Given the description of an element on the screen output the (x, y) to click on. 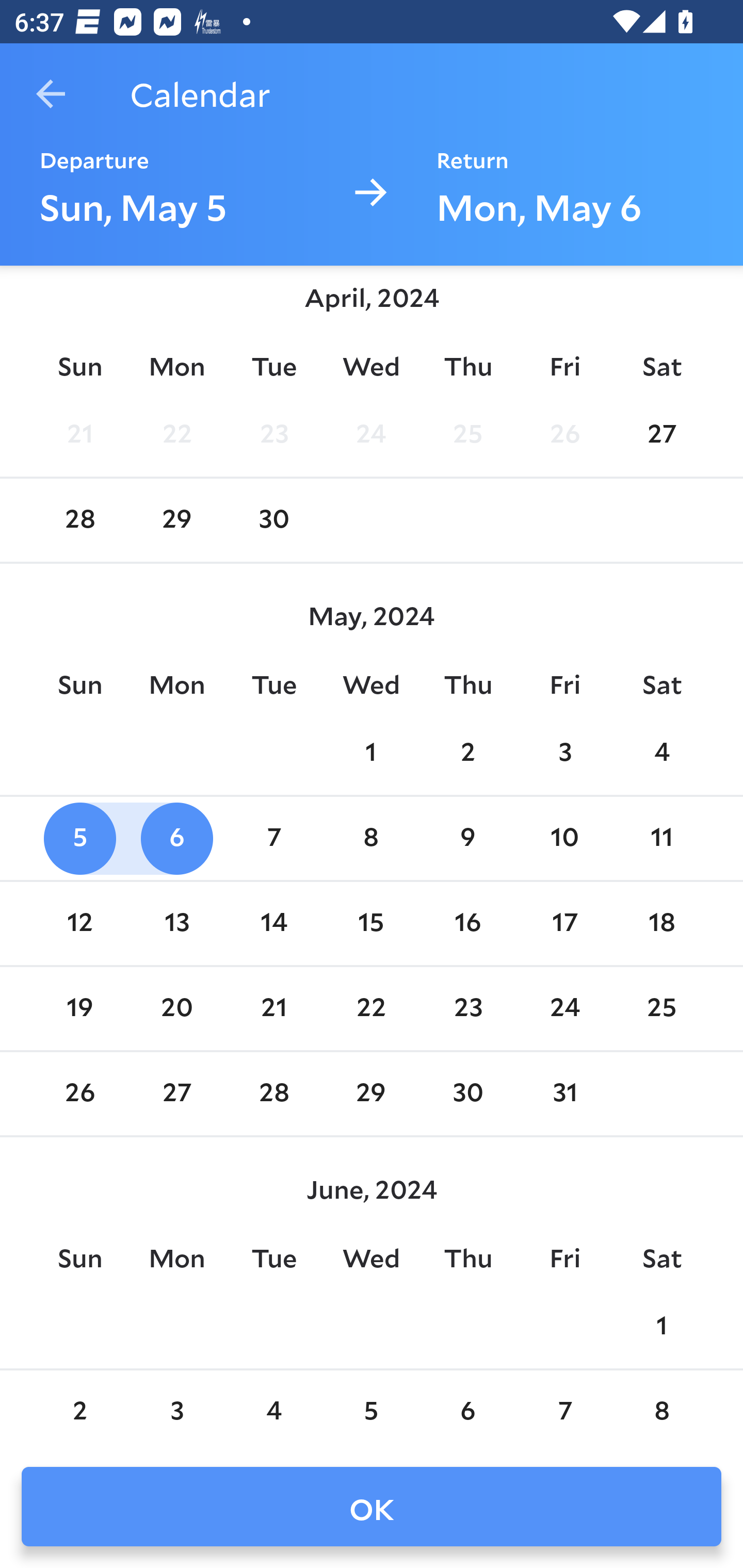
Navigate up (50, 93)
21 (79, 435)
22 (177, 435)
23 (273, 435)
24 (371, 435)
25 (467, 435)
26 (565, 435)
27 (661, 435)
28 (79, 520)
29 (177, 520)
30 (273, 520)
1 (371, 754)
2 (467, 754)
3 (565, 754)
4 (661, 754)
5 (79, 838)
6 (177, 838)
7 (273, 838)
8 (371, 838)
9 (467, 838)
10 (565, 838)
11 (661, 838)
12 (79, 923)
13 (177, 923)
14 (273, 923)
15 (371, 923)
16 (467, 923)
17 (565, 923)
18 (661, 923)
19 (79, 1008)
20 (177, 1008)
21 (273, 1008)
22 (371, 1008)
23 (467, 1008)
24 (565, 1008)
25 (661, 1008)
26 (79, 1094)
27 (177, 1094)
28 (273, 1094)
29 (371, 1094)
30 (467, 1094)
31 (565, 1094)
1 (661, 1326)
2 (79, 1410)
3 (177, 1410)
4 (273, 1410)
5 (371, 1410)
6 (467, 1410)
7 (565, 1410)
8 (661, 1410)
